Given the description of an element on the screen output the (x, y) to click on. 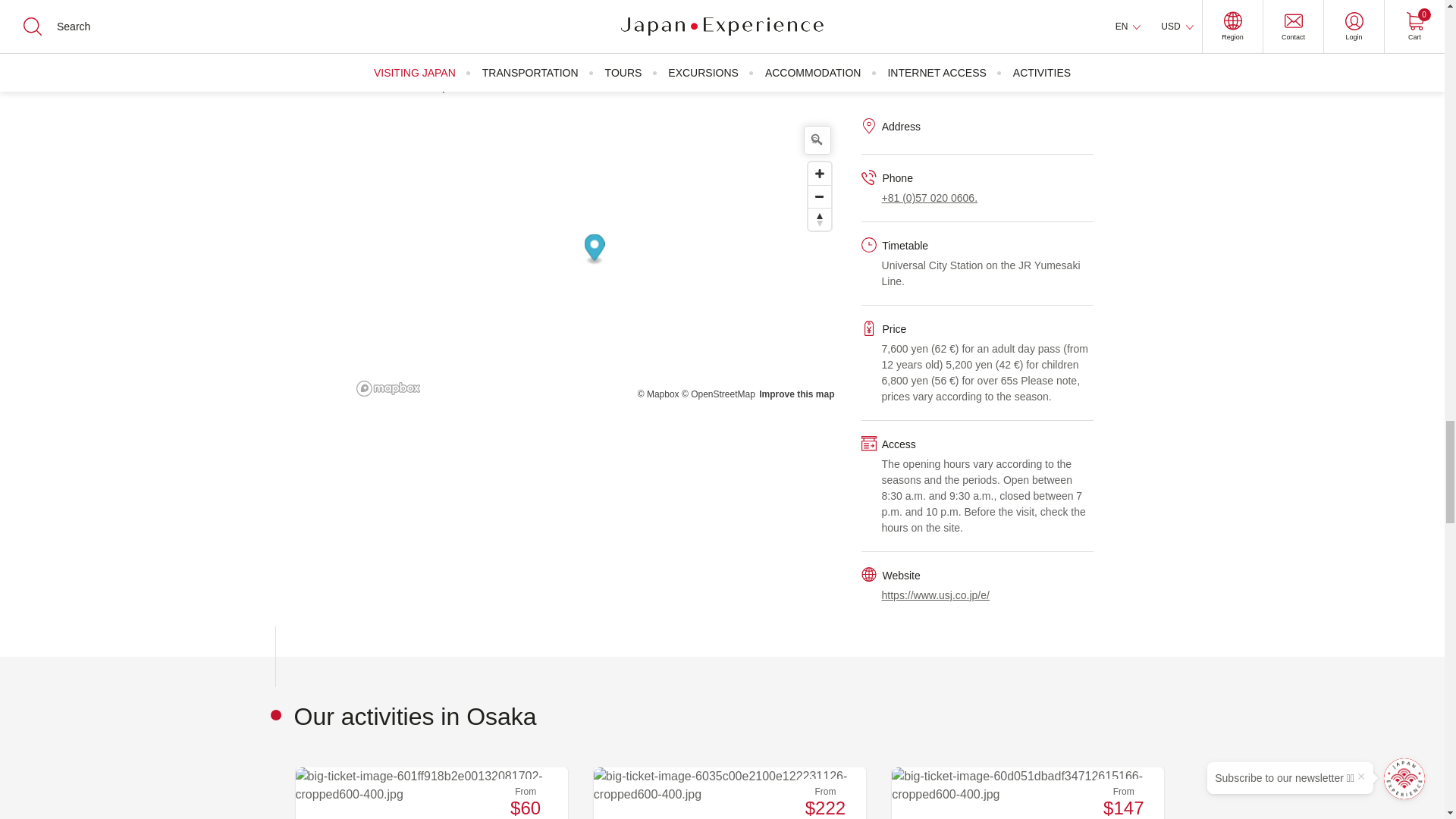
Zoom out (819, 196)
Mapbox (658, 394)
Zoom in (819, 173)
Reset bearing to north (819, 219)
